Given the description of an element on the screen output the (x, y) to click on. 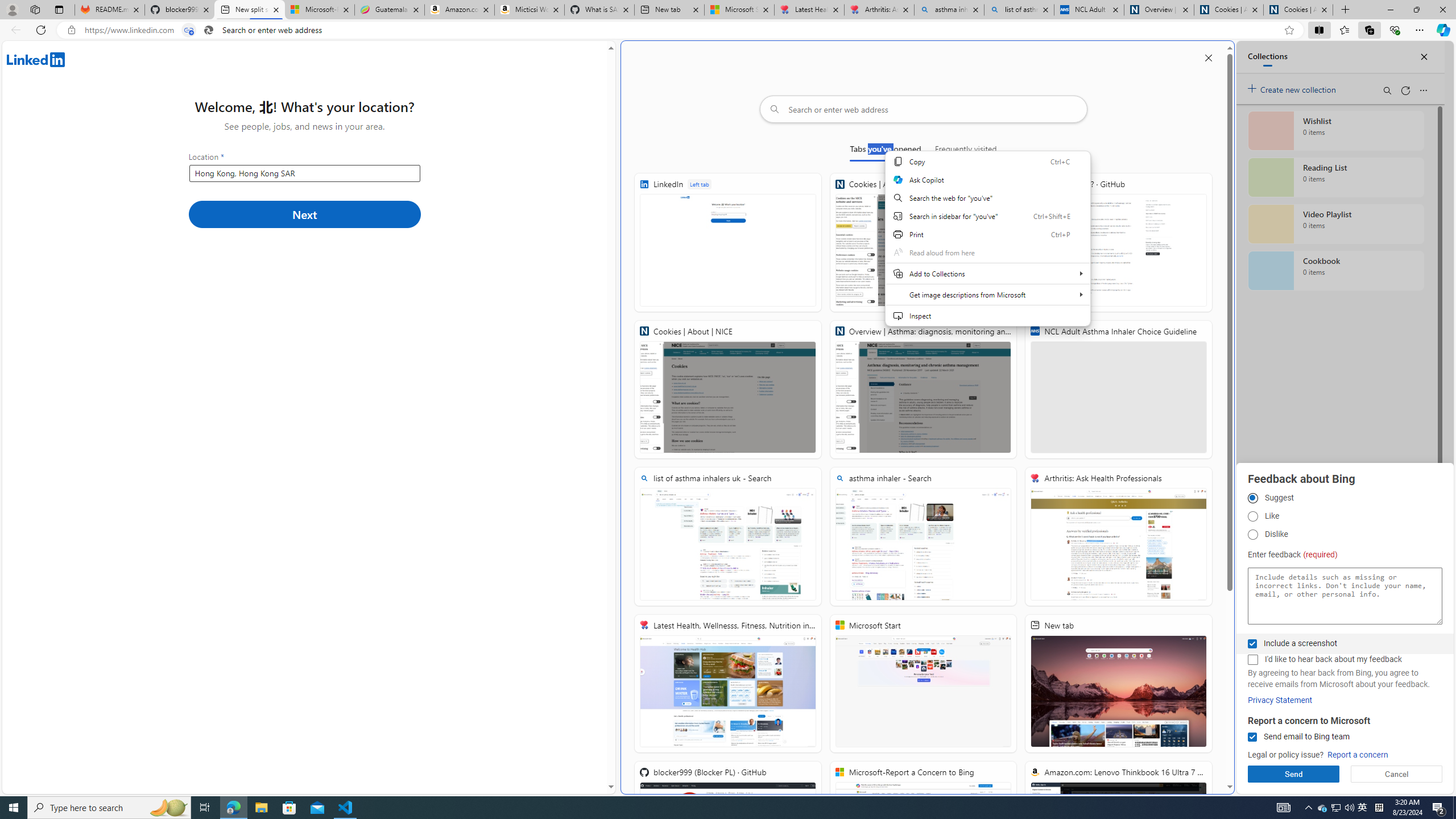
Arthritis: Ask Health Professionals (879, 9)
Privacy Statement (1280, 700)
Like (1252, 516)
Web context (987, 244)
Report a concern (1358, 755)
Send (1293, 773)
Cancel (1396, 773)
asthma inhaler - Search (949, 9)
Suggest (1252, 498)
